Given the description of an element on the screen output the (x, y) to click on. 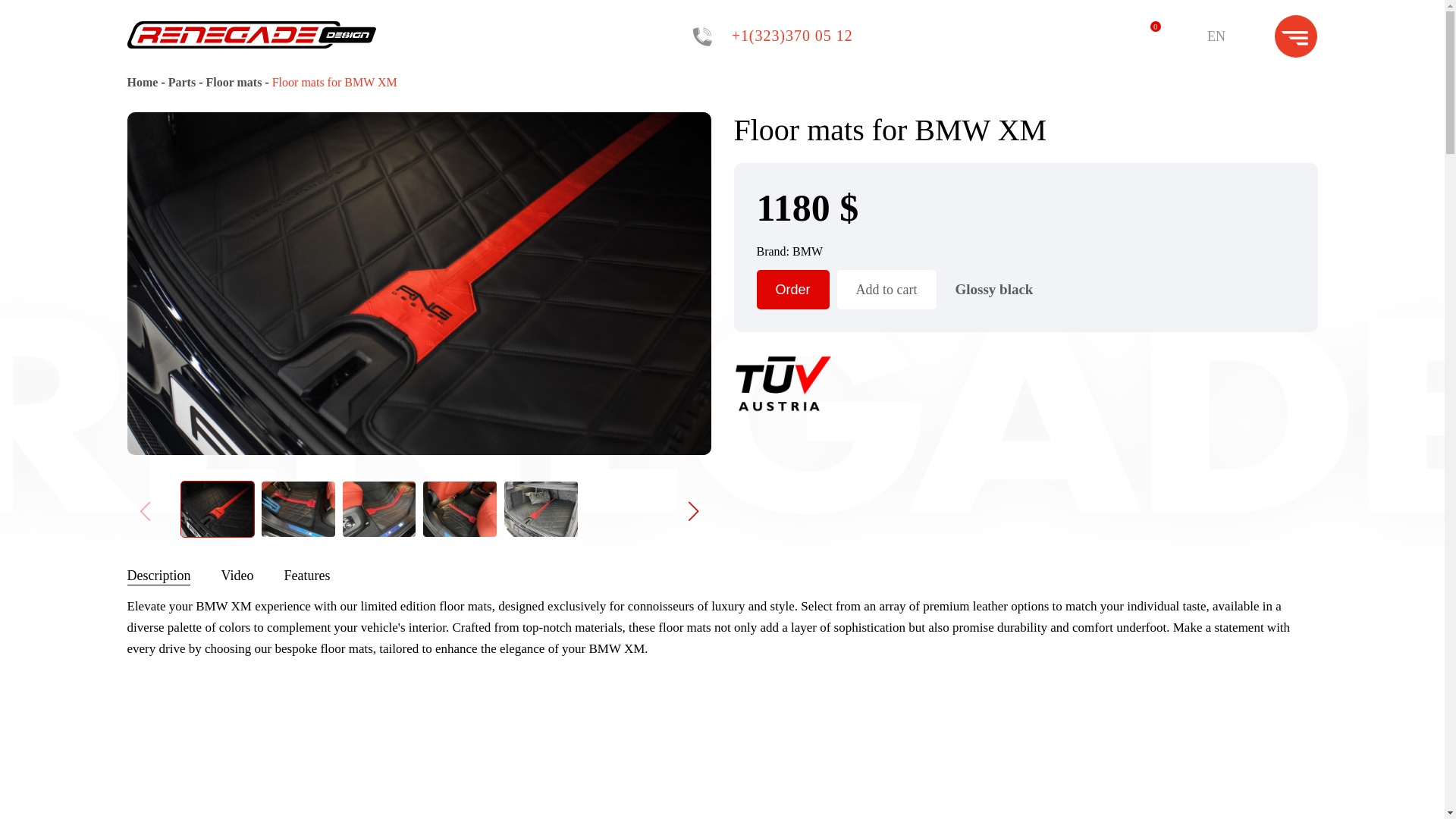
Home (144, 82)
0 (1145, 36)
Parts (183, 82)
Floor mats (234, 82)
Order (793, 289)
